Given the description of an element on the screen output the (x, y) to click on. 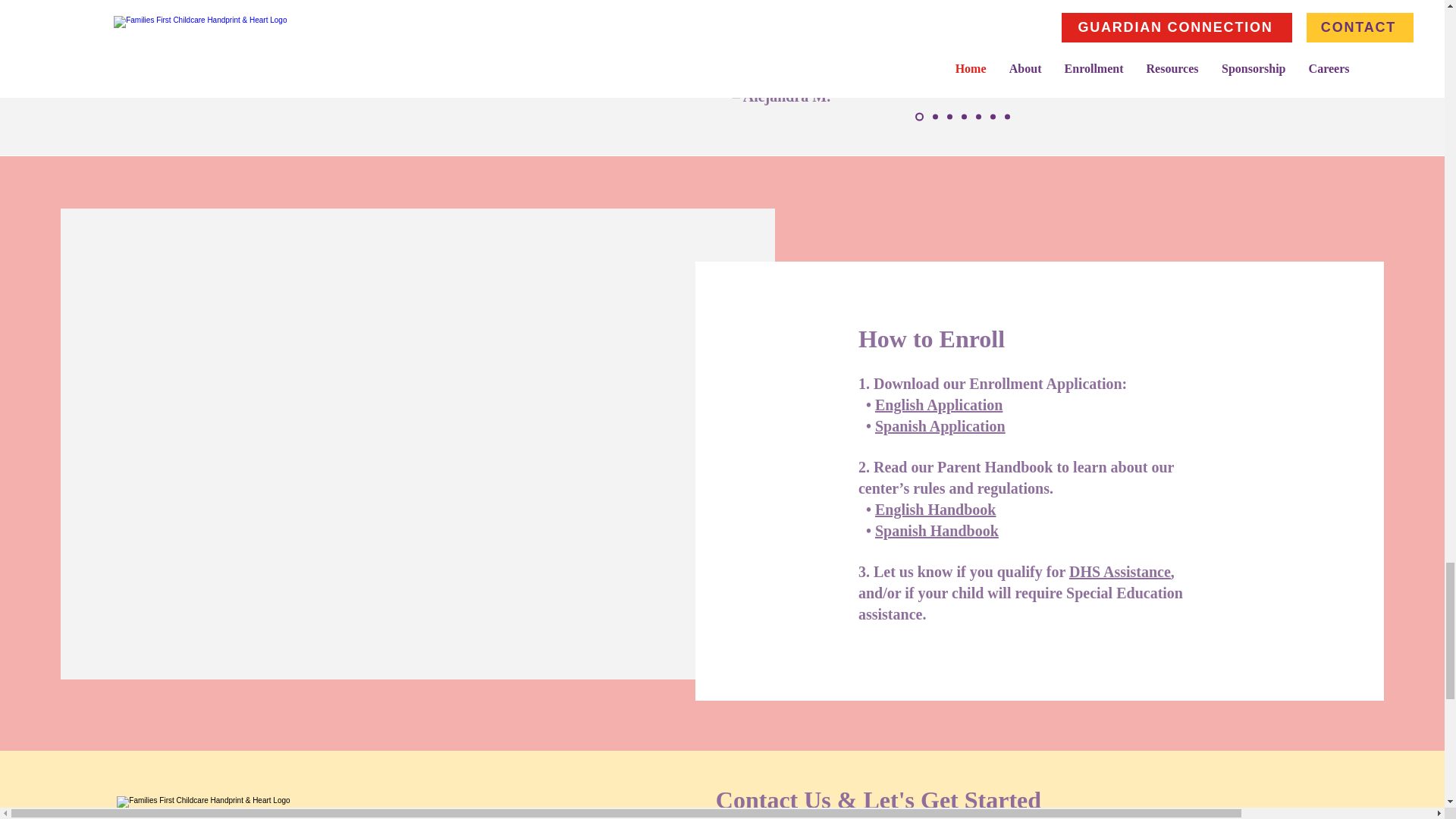
Spanish Handbook (936, 530)
English Handbook (935, 509)
Spanish Application (940, 425)
DHS Assistance (1119, 571)
English Application (939, 404)
